Given the description of an element on the screen output the (x, y) to click on. 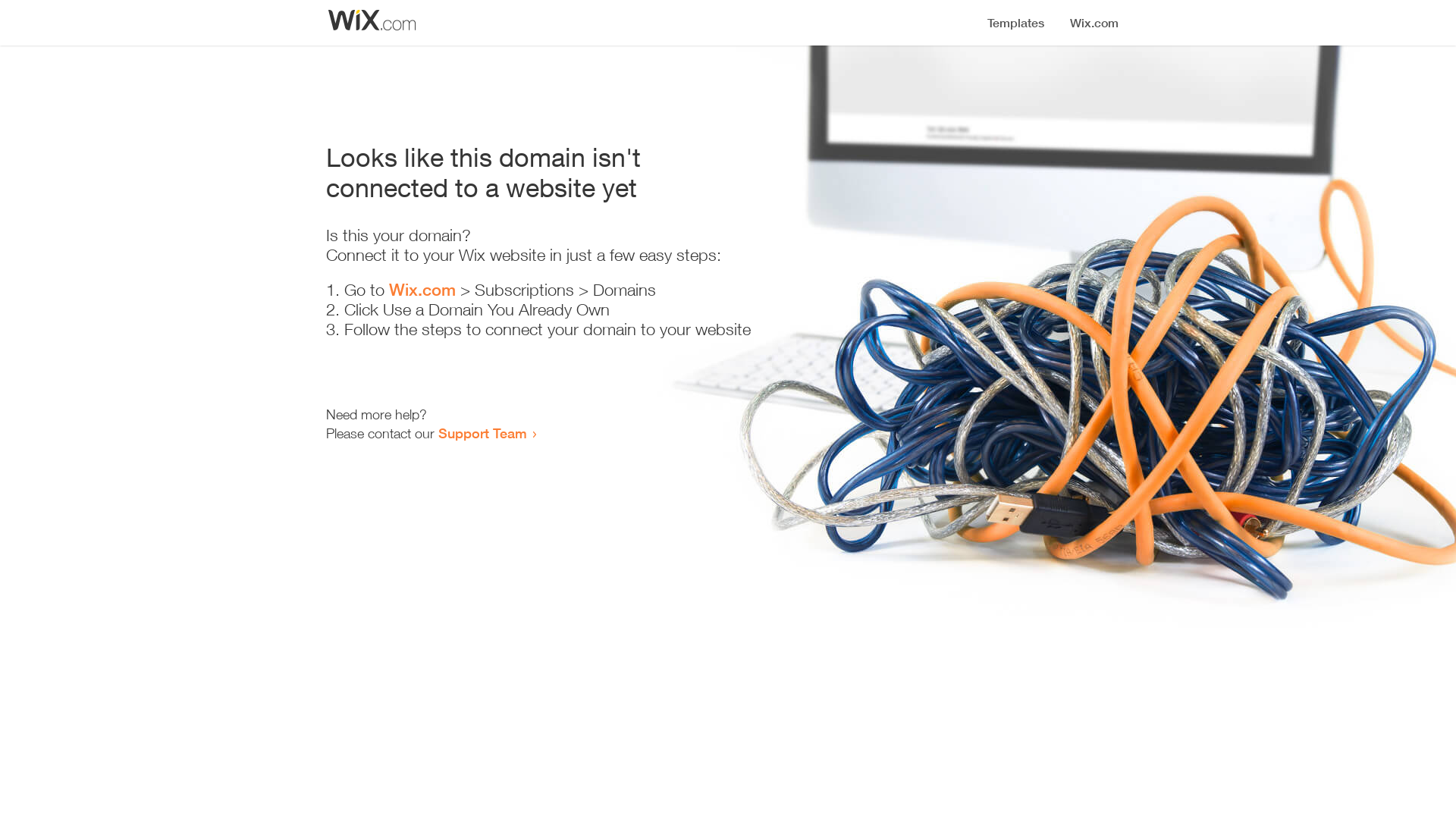
Support Team Element type: text (482, 432)
Wix.com Element type: text (422, 289)
